Given the description of an element on the screen output the (x, y) to click on. 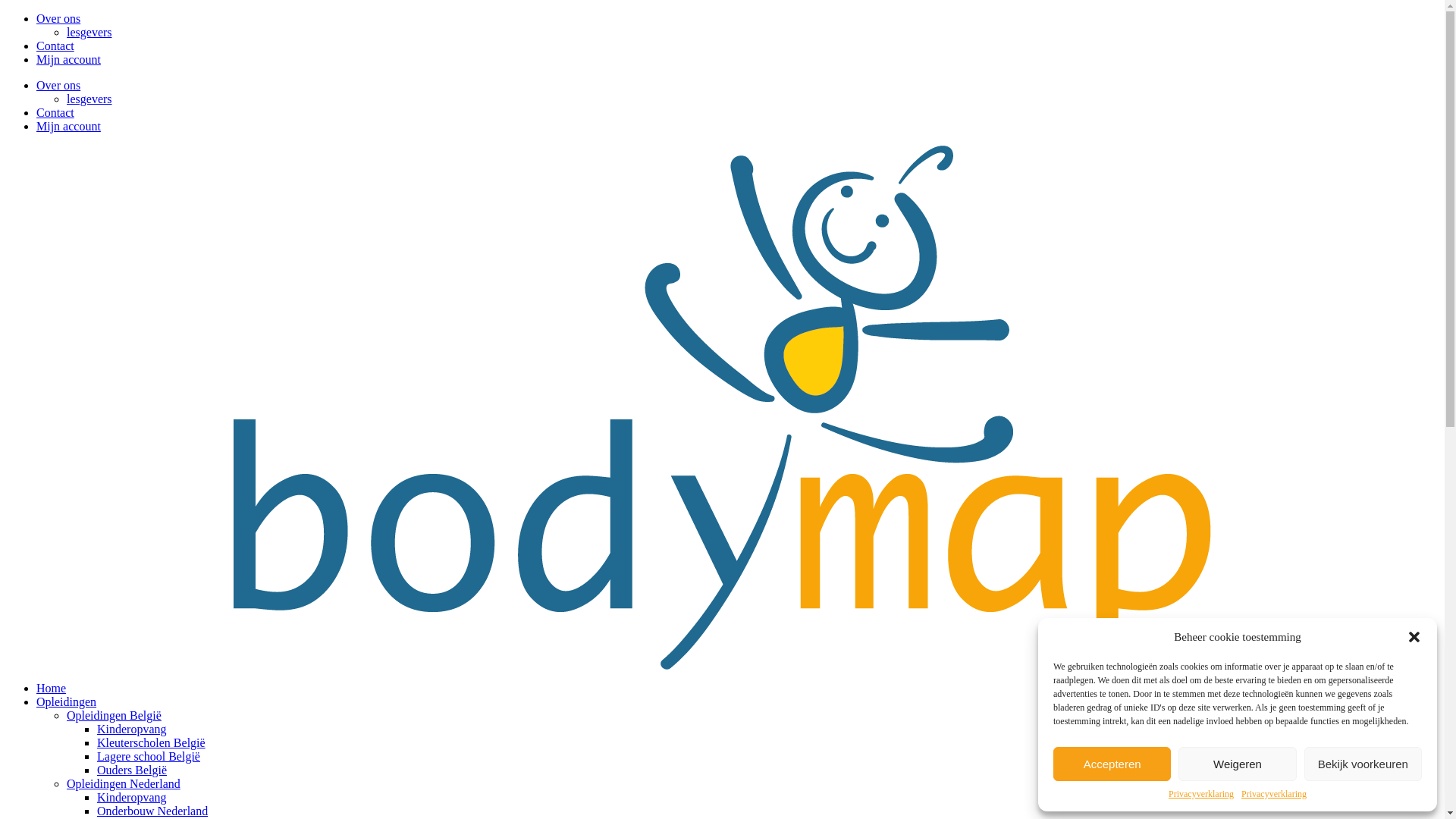
Home Element type: text (50, 687)
Ga naar de inhoud Element type: text (5, 11)
Kinderopvang Element type: text (131, 728)
Contact Element type: text (55, 112)
Over ons Element type: text (58, 18)
lesgevers Element type: text (89, 98)
Over ons Element type: text (58, 84)
Onderbouw Nederland Element type: text (152, 810)
Opleidingen Nederland Element type: text (123, 783)
Accepteren Element type: text (1111, 763)
Kinderopvang Element type: text (131, 796)
Privacyverklaring Element type: text (1273, 794)
Privacyverklaring Element type: text (1200, 794)
Weigeren Element type: text (1236, 763)
Contact Element type: text (55, 45)
Bekijk voorkeuren Element type: text (1362, 763)
Opleidingen Element type: text (66, 701)
Mijn account Element type: text (68, 125)
lesgevers Element type: text (89, 31)
Mijn account Element type: text (68, 59)
